Given the description of an element on the screen output the (x, y) to click on. 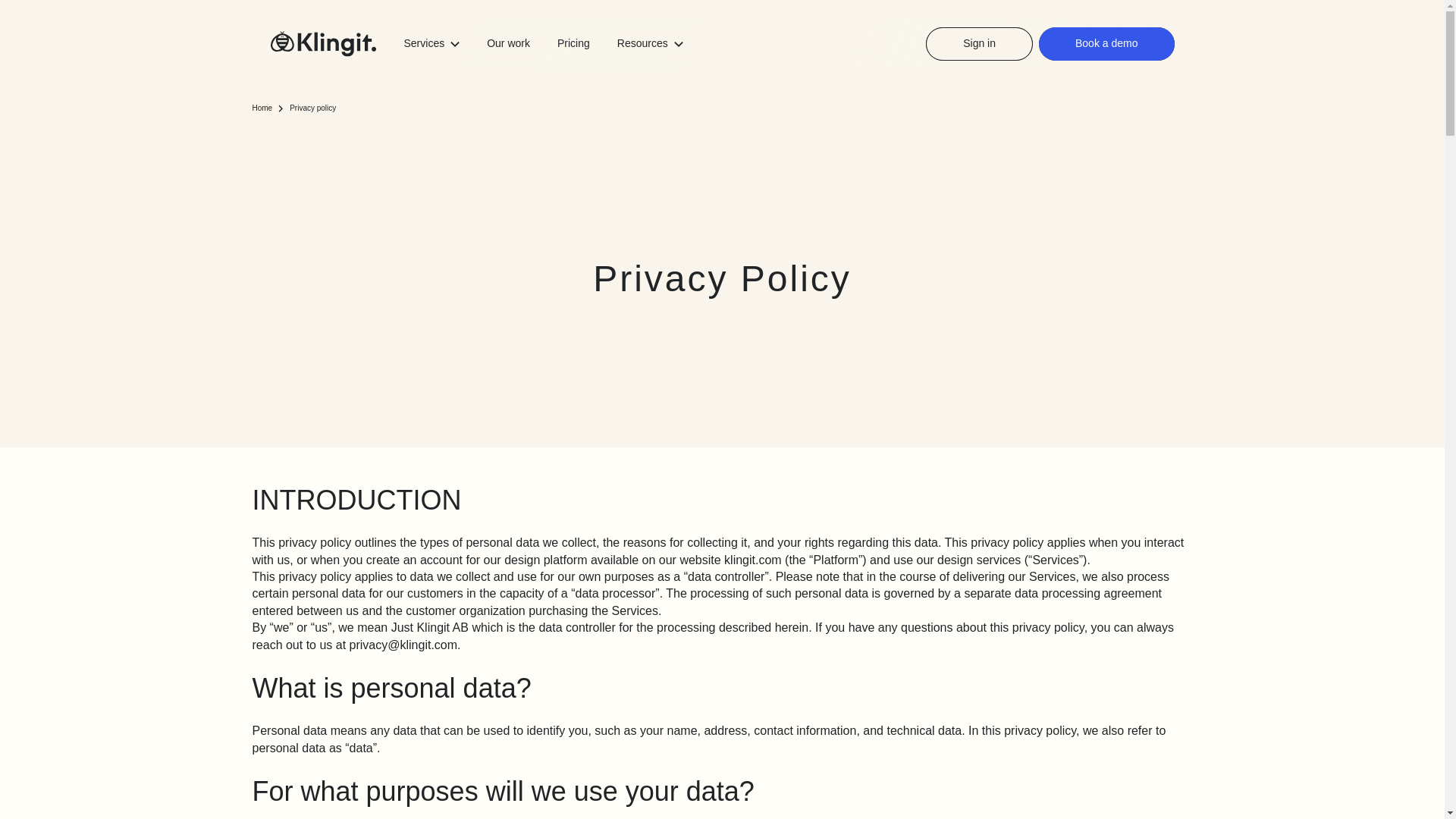
Go to homepage (322, 43)
Pricing (573, 42)
Our work (507, 42)
Services (431, 43)
Sign in (979, 43)
Book a demo (1106, 43)
Resources (649, 43)
